Given the description of an element on the screen output the (x, y) to click on. 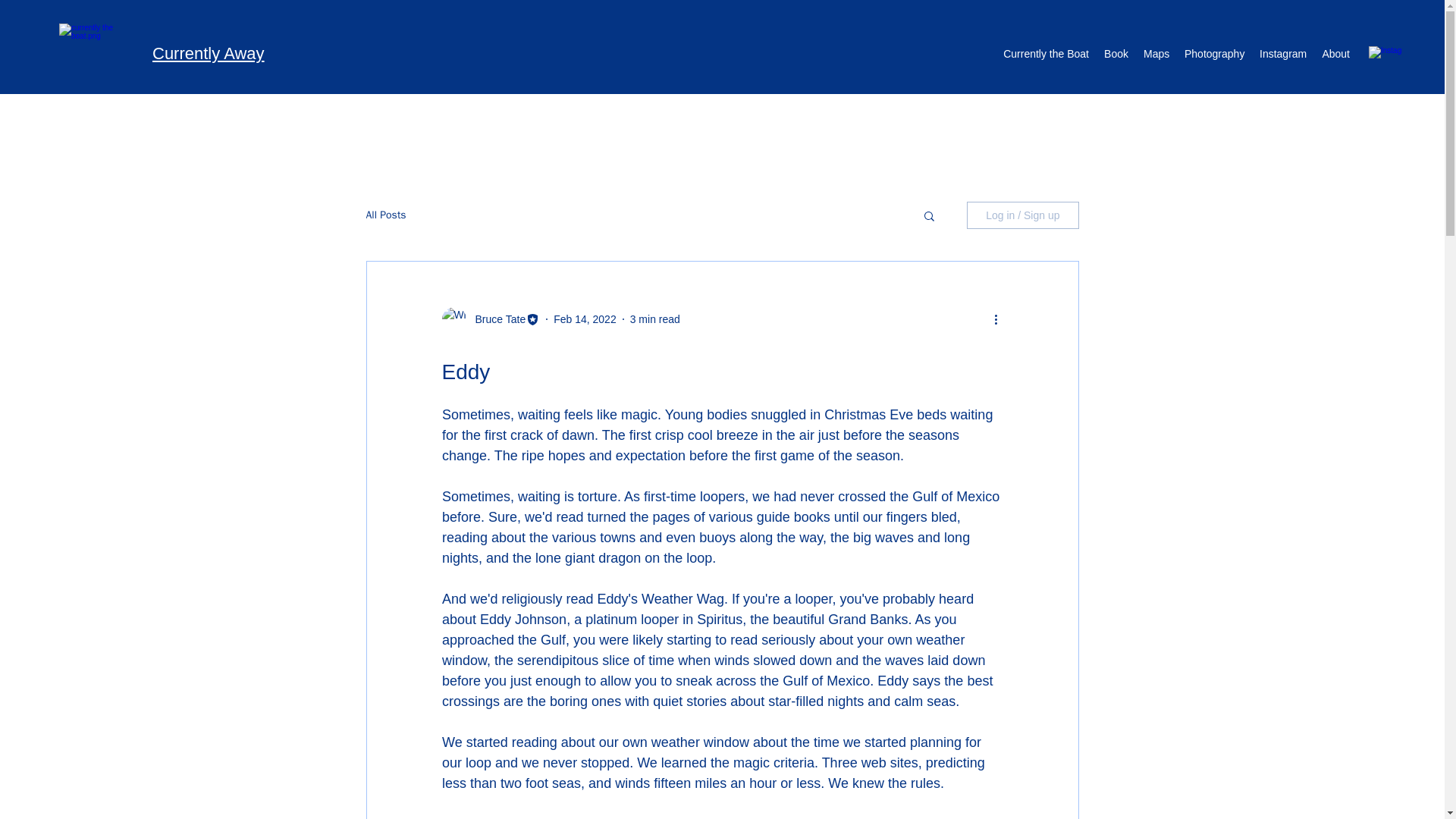
Currently Away (208, 53)
Currently the Boat (1045, 53)
All Posts (385, 214)
Photography (1214, 53)
Instagram (1283, 53)
Bruce Tate (495, 318)
Maps (1155, 53)
Book (1115, 53)
Feb 14, 2022 (584, 318)
About (1335, 53)
